Given the description of an element on the screen output the (x, y) to click on. 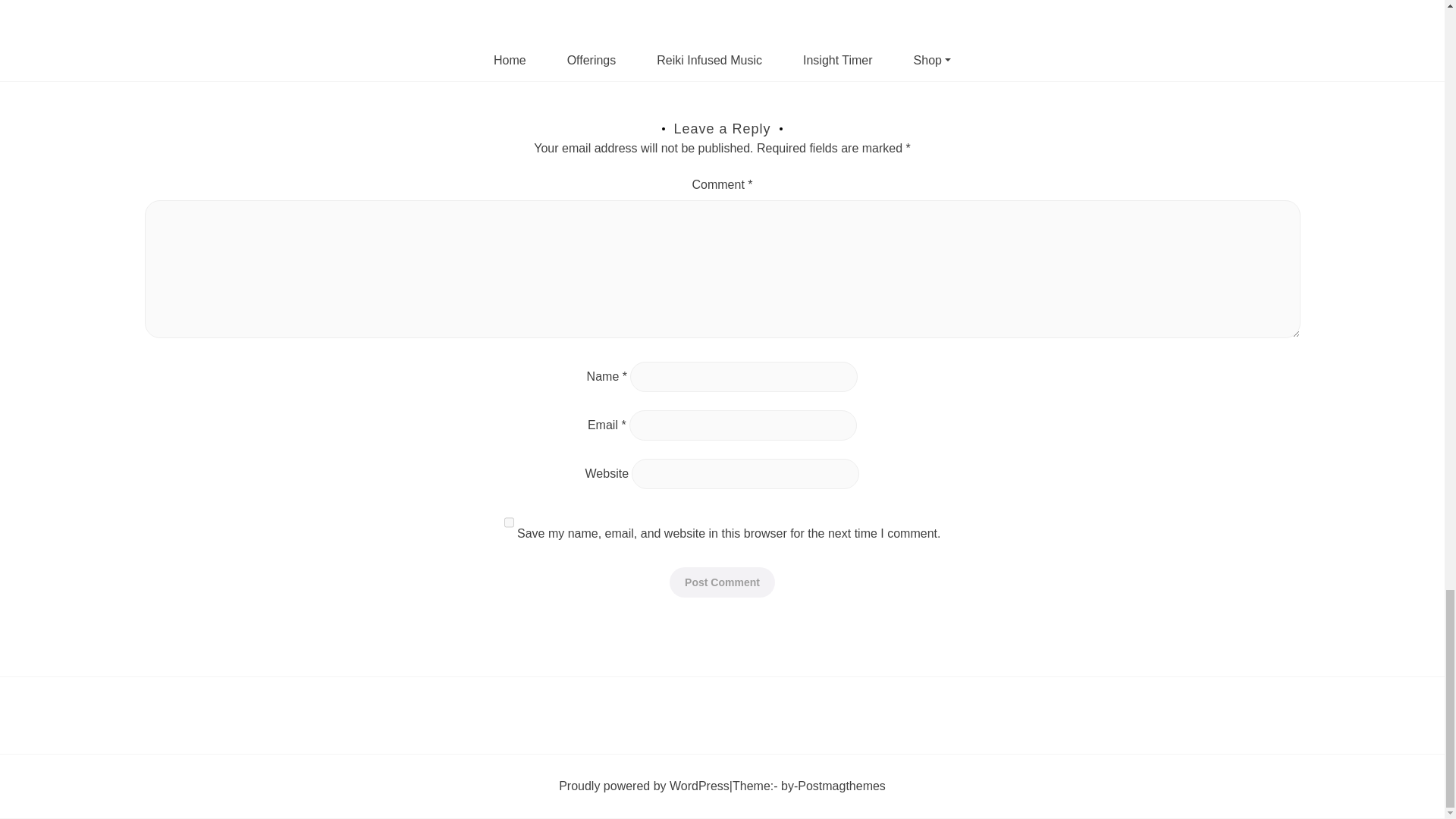
Previous post (180, 74)
Post Comment (721, 582)
Jenna Newbery (214, 763)
Next post (1274, 74)
Post Comment (721, 582)
Proudly powered by WordPress (644, 785)
Postmagthemes (841, 785)
